Given the description of an element on the screen output the (x, y) to click on. 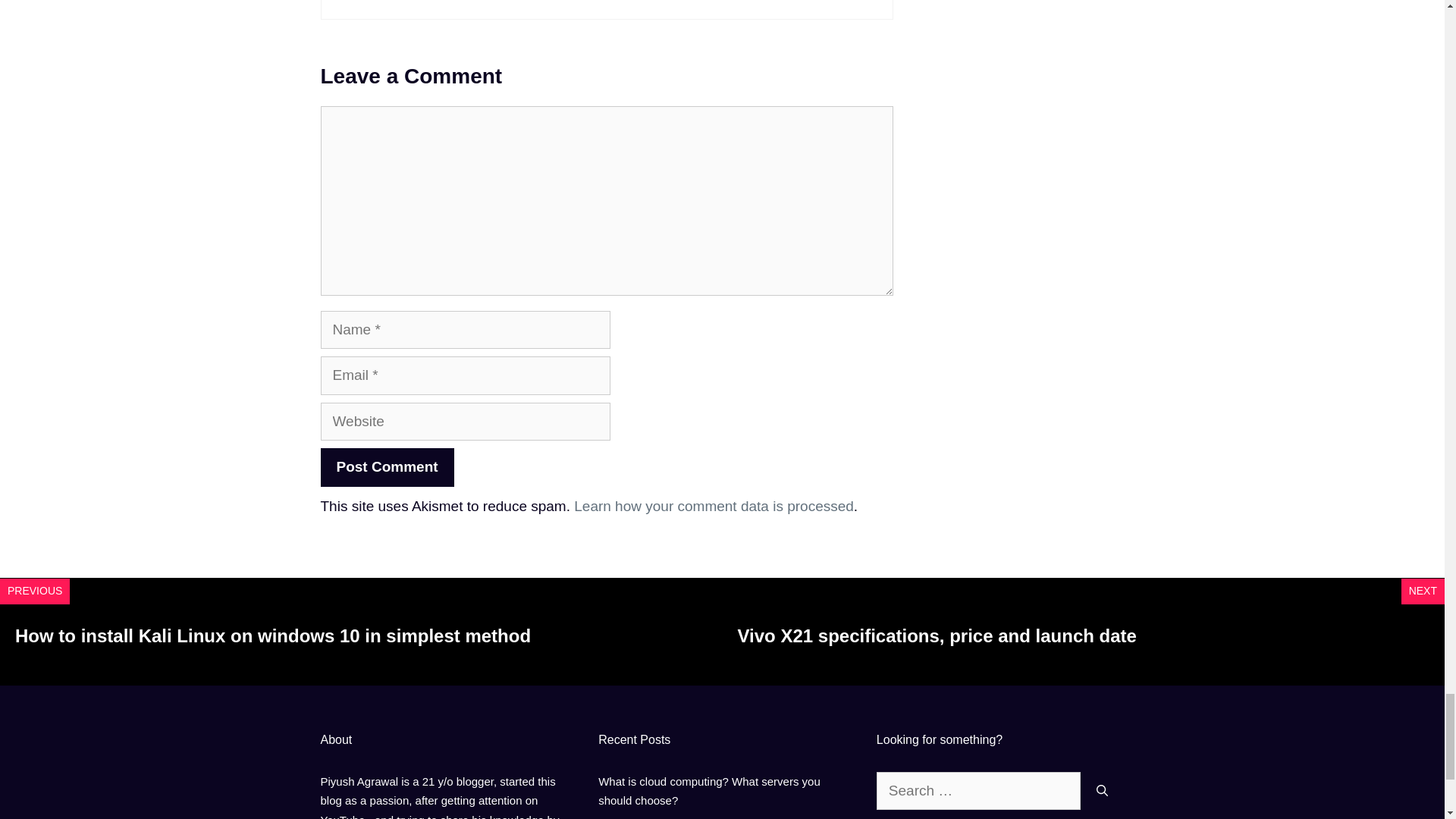
Post Comment (386, 466)
Search for: (978, 791)
Post Comment (386, 466)
